Given the description of an element on the screen output the (x, y) to click on. 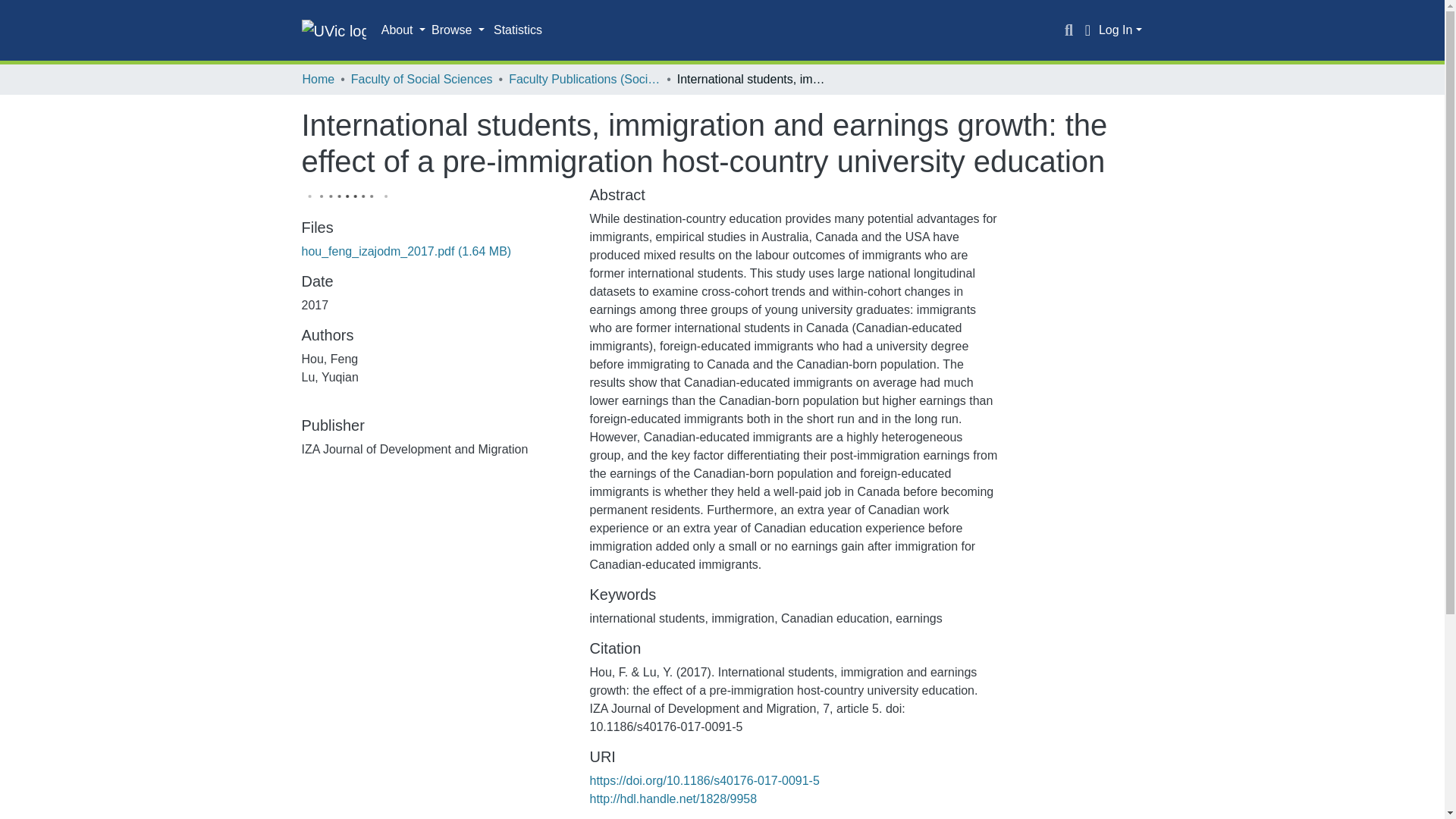
Log In (1119, 29)
Language switch (1087, 30)
Statistics (517, 30)
Browse (457, 30)
Search (1068, 30)
Faculty of Social Sciences (421, 79)
About (403, 30)
Home (317, 79)
Statistics (517, 30)
